Given the description of an element on the screen output the (x, y) to click on. 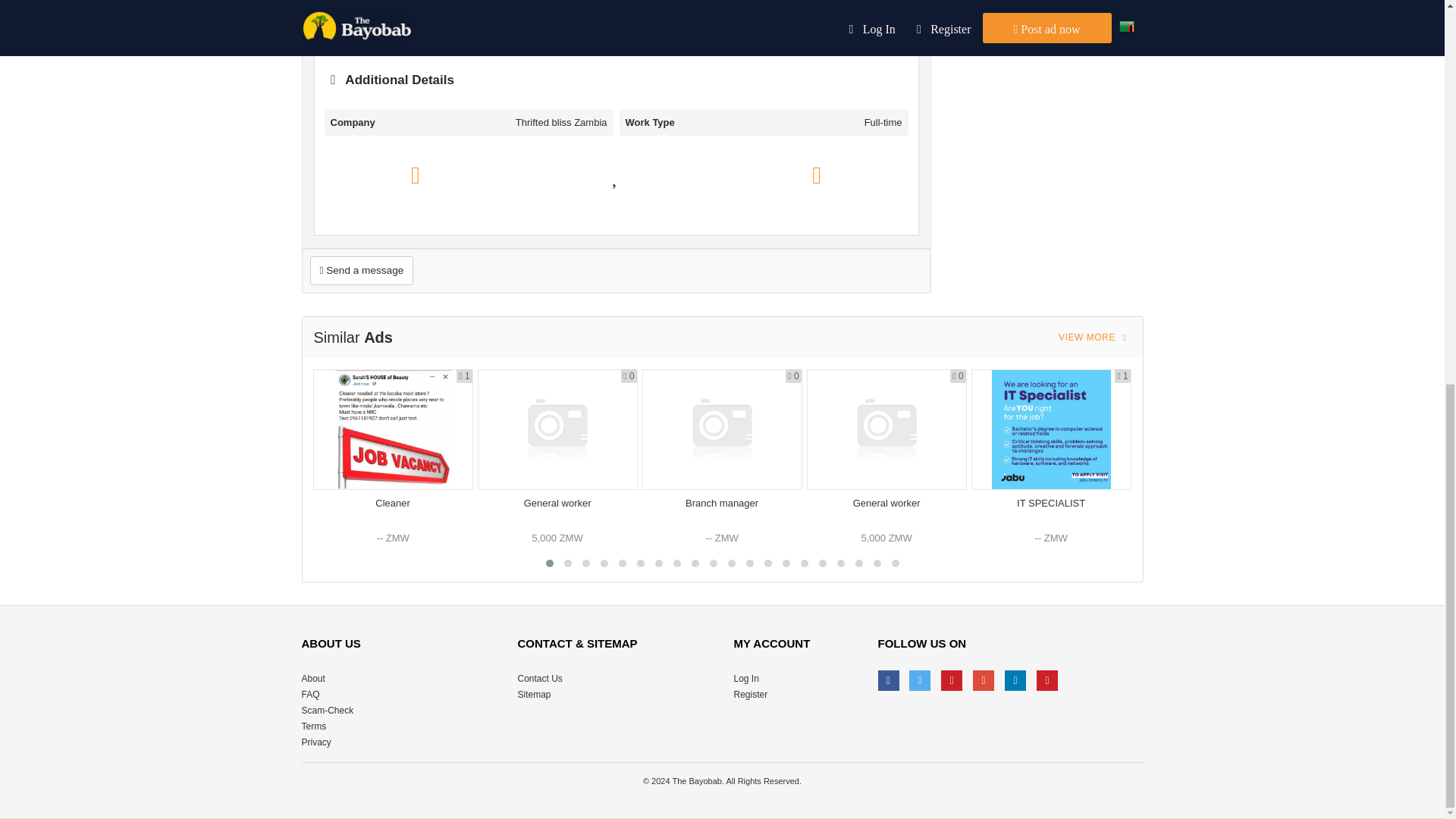
VIEW MORE (1094, 337)
Send a message (360, 270)
